Given the description of an element on the screen output the (x, y) to click on. 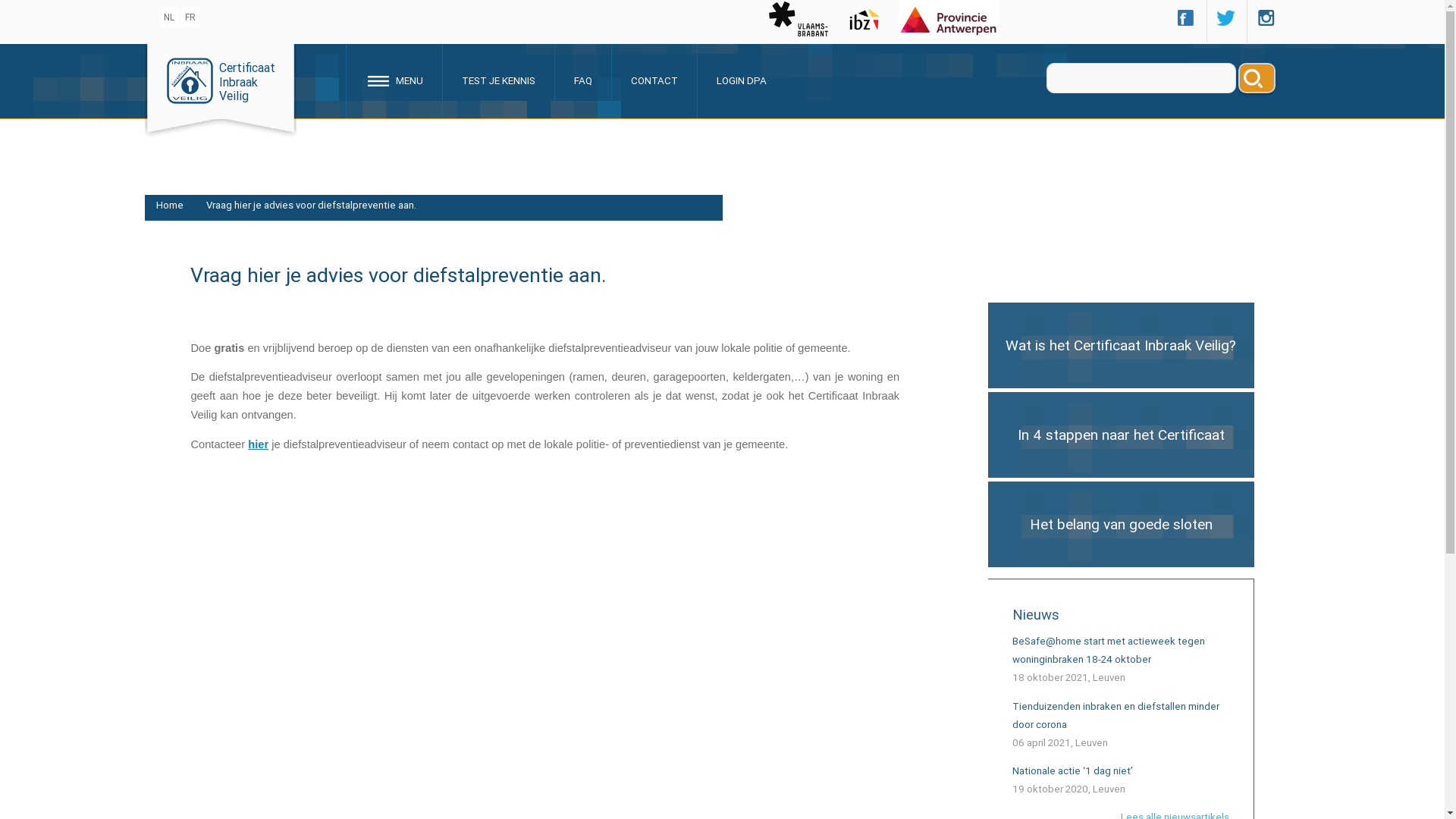
TEST JE KENNIS Element type: text (498, 80)
  MENU Element type: text (393, 80)
Vraag hier je advies voor diefstalpreventie aan. Element type: text (311, 204)
LOGIN DPA Element type: text (740, 80)
Leuven Element type: text (1108, 788)
18 oktober 2021 Element type: text (1050, 677)
Home Element type: text (169, 204)
FAQ Element type: text (582, 80)
Leuven Element type: text (1091, 742)
Wat is het Certificaat Inbraak Veilig? Element type: text (1121, 345)
Leuven Element type: text (1108, 677)
19 oktober 2020 Element type: text (1050, 788)
hier Element type: text (257, 444)
Tienduizenden inbraken en diefstallen minder door corona Element type: text (1115, 715)
NL Element type: text (169, 16)
In 4 stappen naar het Certificaat Element type: text (1121, 434)
06 april 2021 Element type: text (1041, 742)
Het belang van goede sloten Element type: text (1121, 524)
CONTACT Element type: text (653, 80)
FR Element type: text (190, 16)
